Given the description of an element on the screen output the (x, y) to click on. 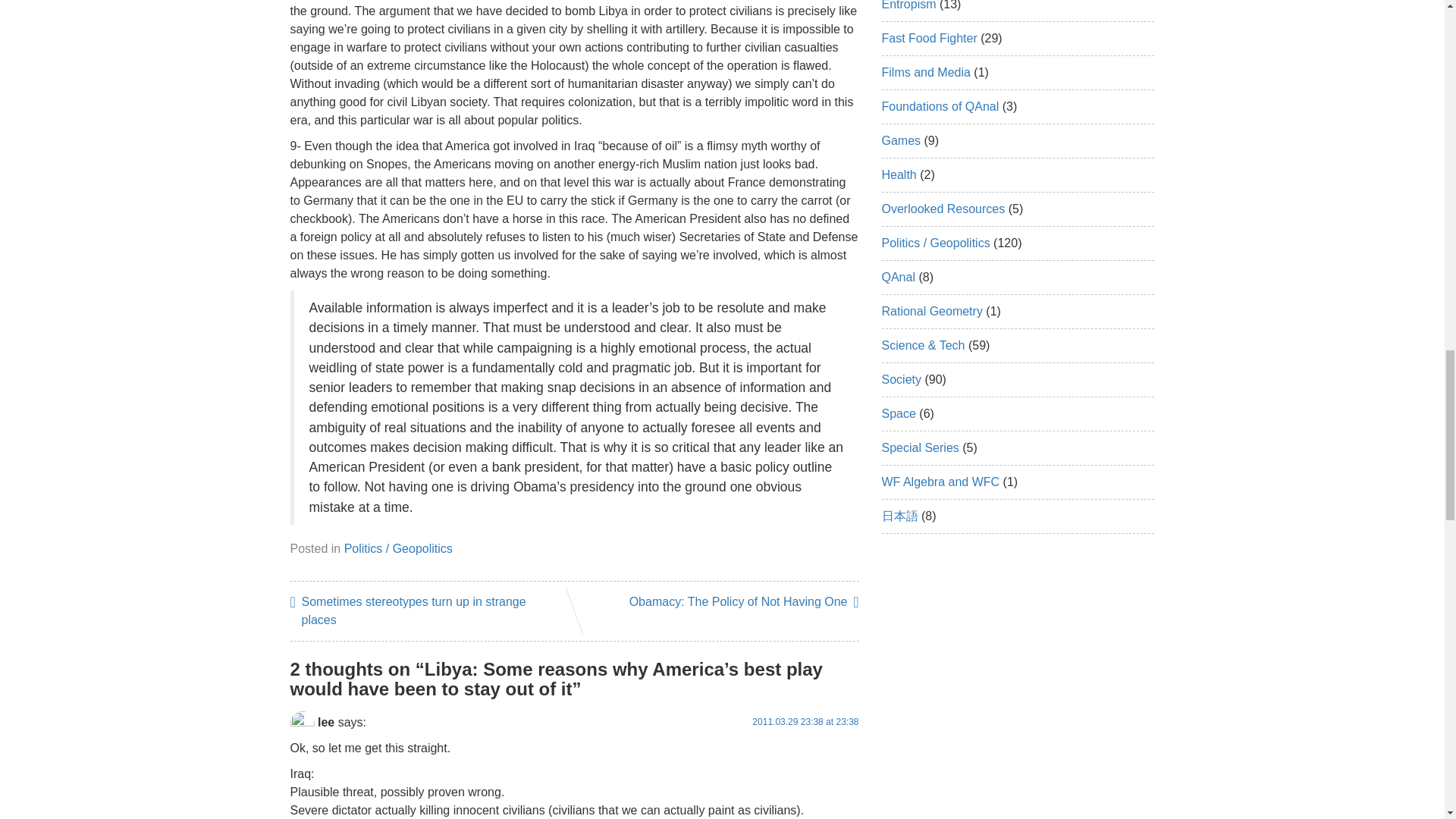
Obamacy: The Policy of Not Having One (743, 601)
Sometimes stereotypes turn up in strange places (425, 610)
2011.03.29 23:38 at 23:38 (805, 721)
